Given the description of an element on the screen output the (x, y) to click on. 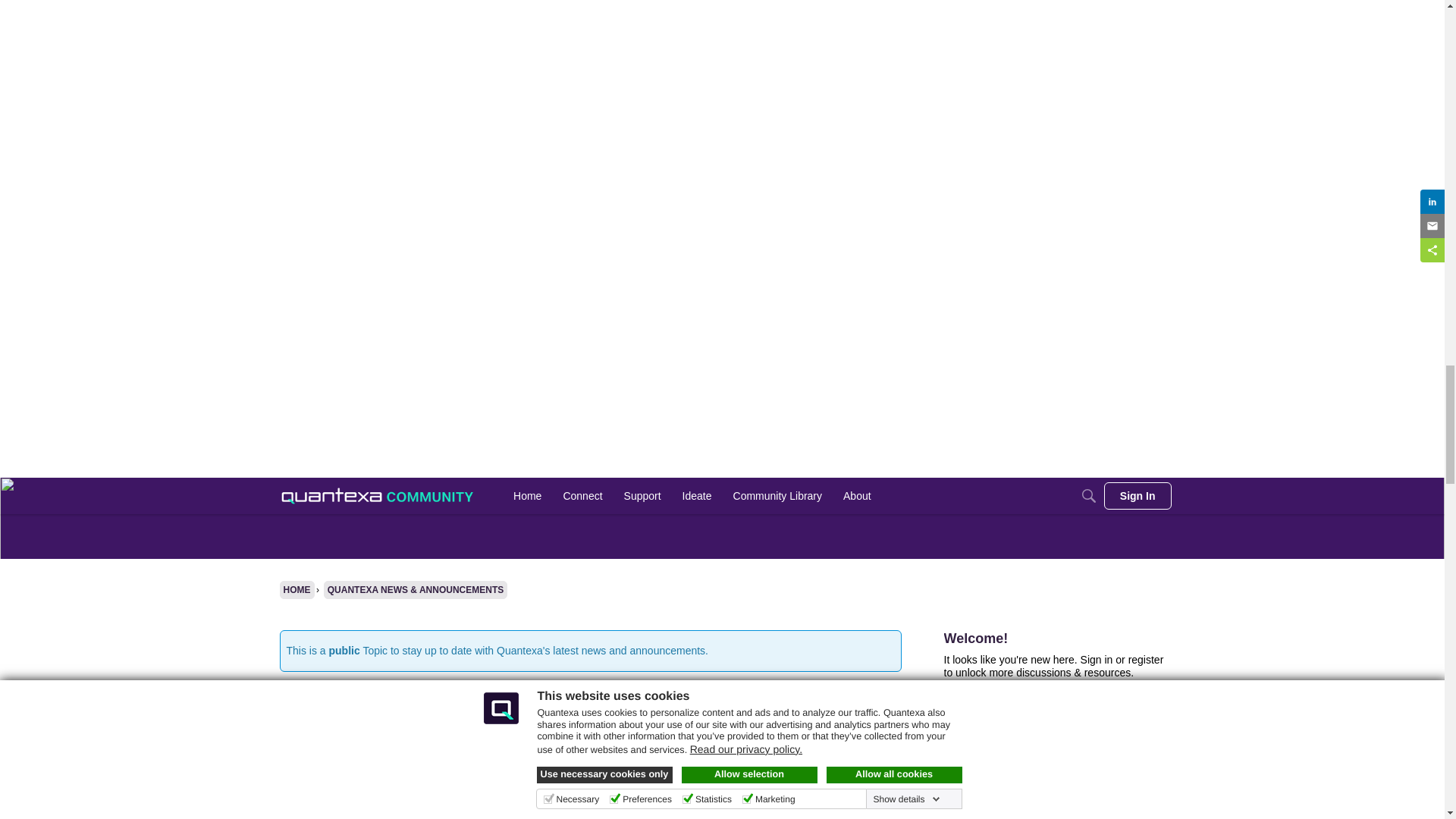
LinkedIn (315, 3)
Google (312, 40)
Google (312, 64)
